Given the description of an element on the screen output the (x, y) to click on. 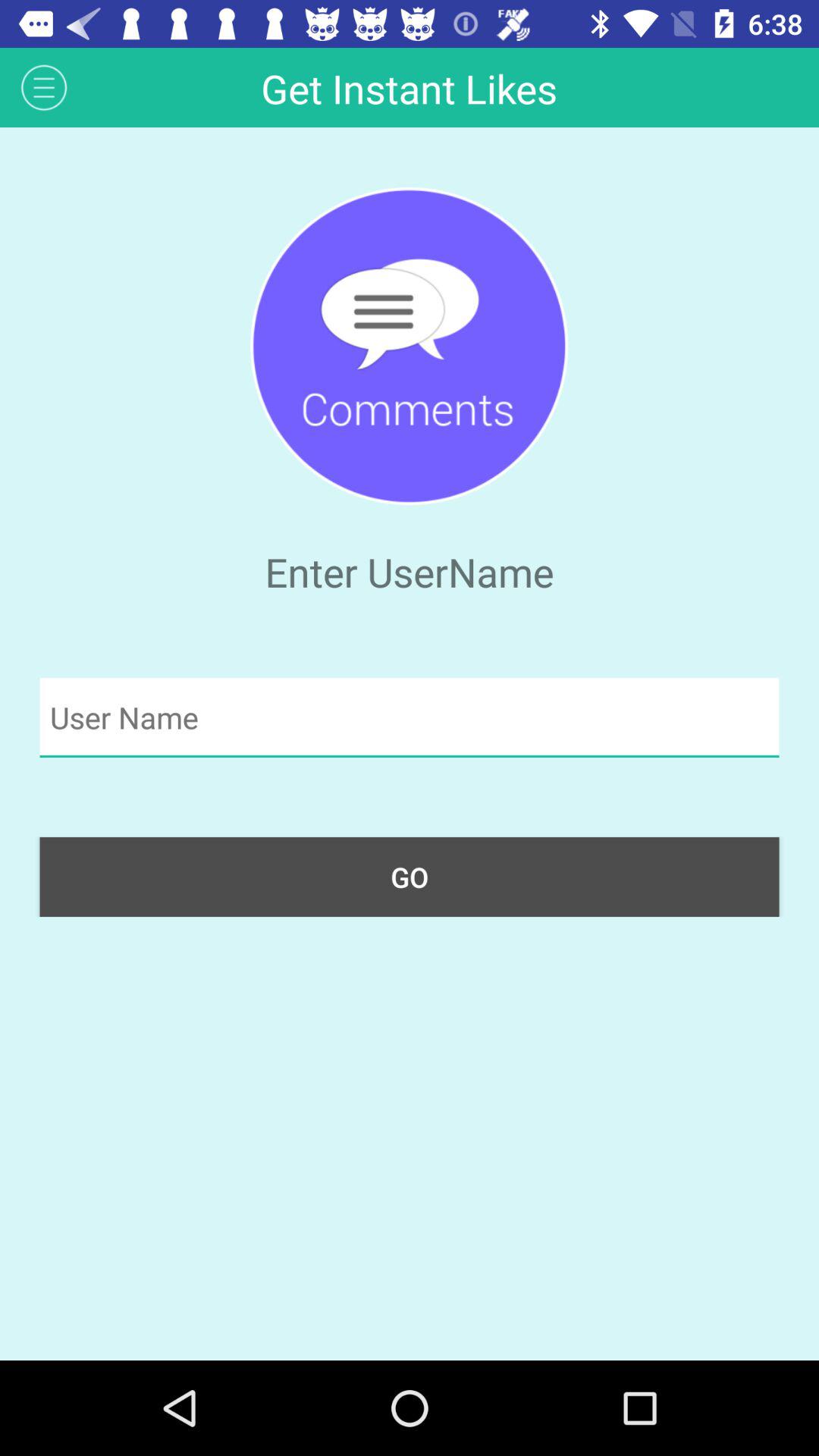
turn off icon at the top left corner (44, 87)
